Given the description of an element on the screen output the (x, y) to click on. 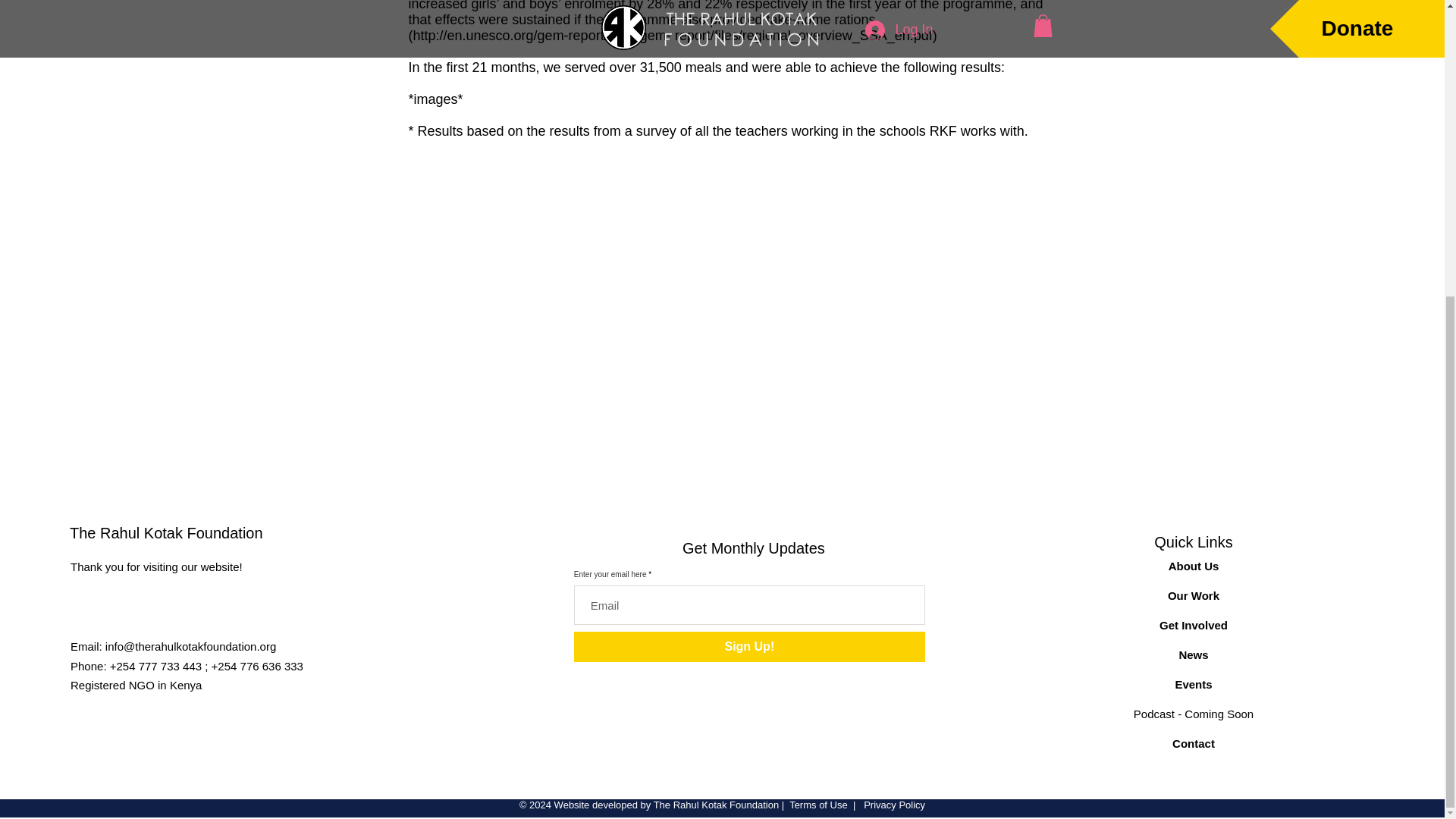
Sign Up! (748, 646)
Contact (1193, 743)
 Privacy Policy (893, 804)
About Us (1194, 565)
Terms of Use (818, 804)
Our Work (1193, 594)
Events (1192, 684)
Get Involved (1192, 625)
News (1192, 654)
